Given the description of an element on the screen output the (x, y) to click on. 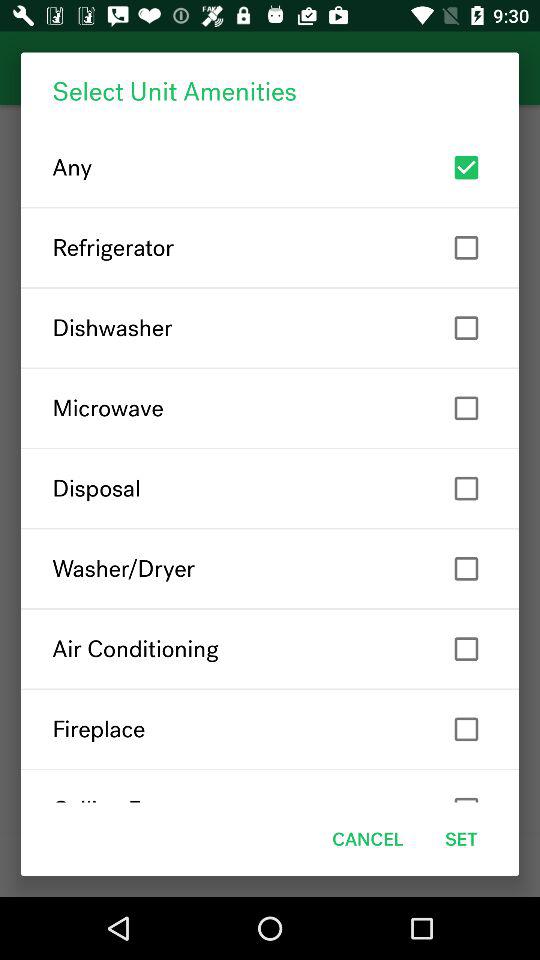
jump until the microwave (270, 408)
